Given the description of an element on the screen output the (x, y) to click on. 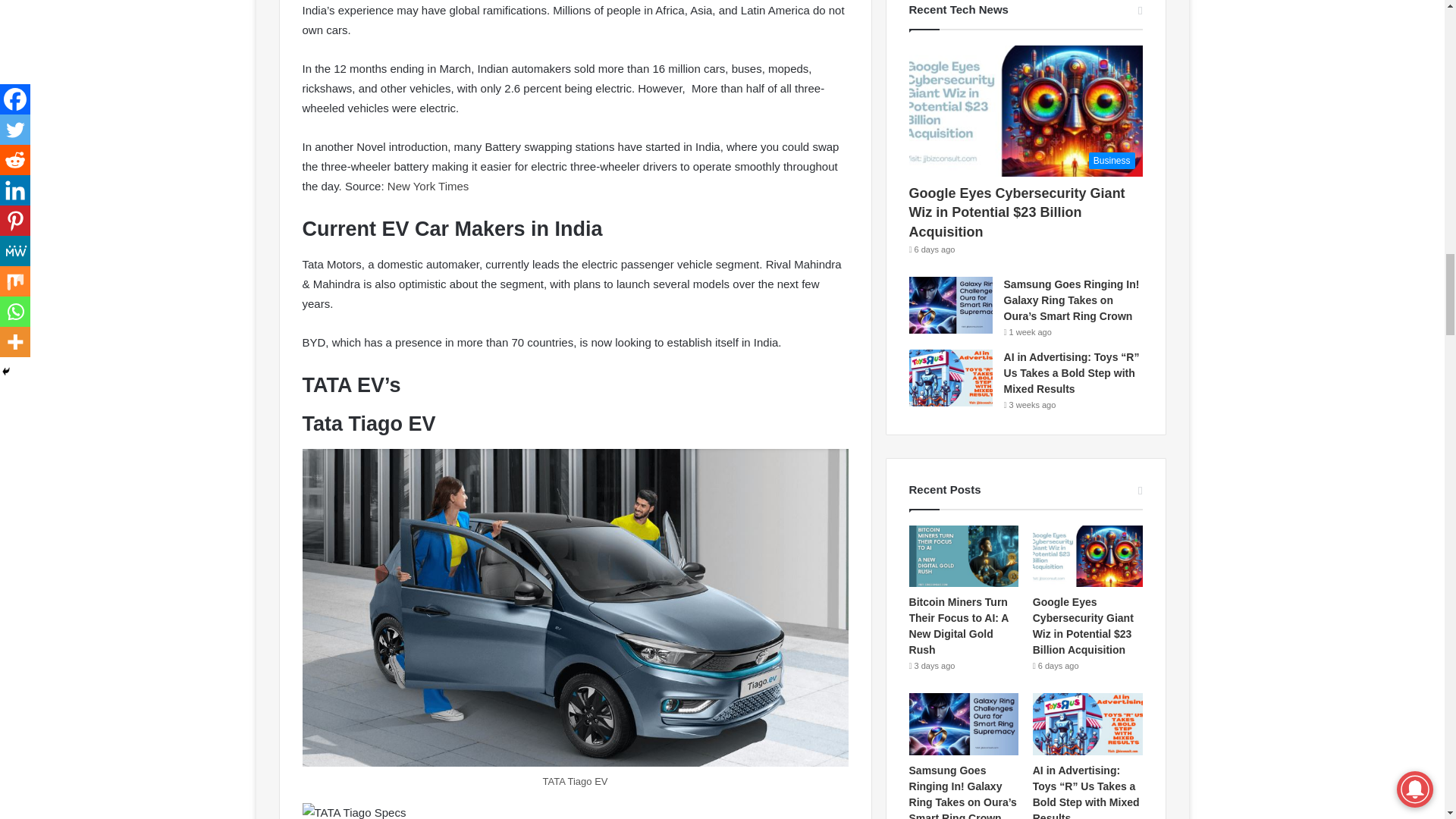
New York Times (427, 185)
